Given the description of an element on the screen output the (x, y) to click on. 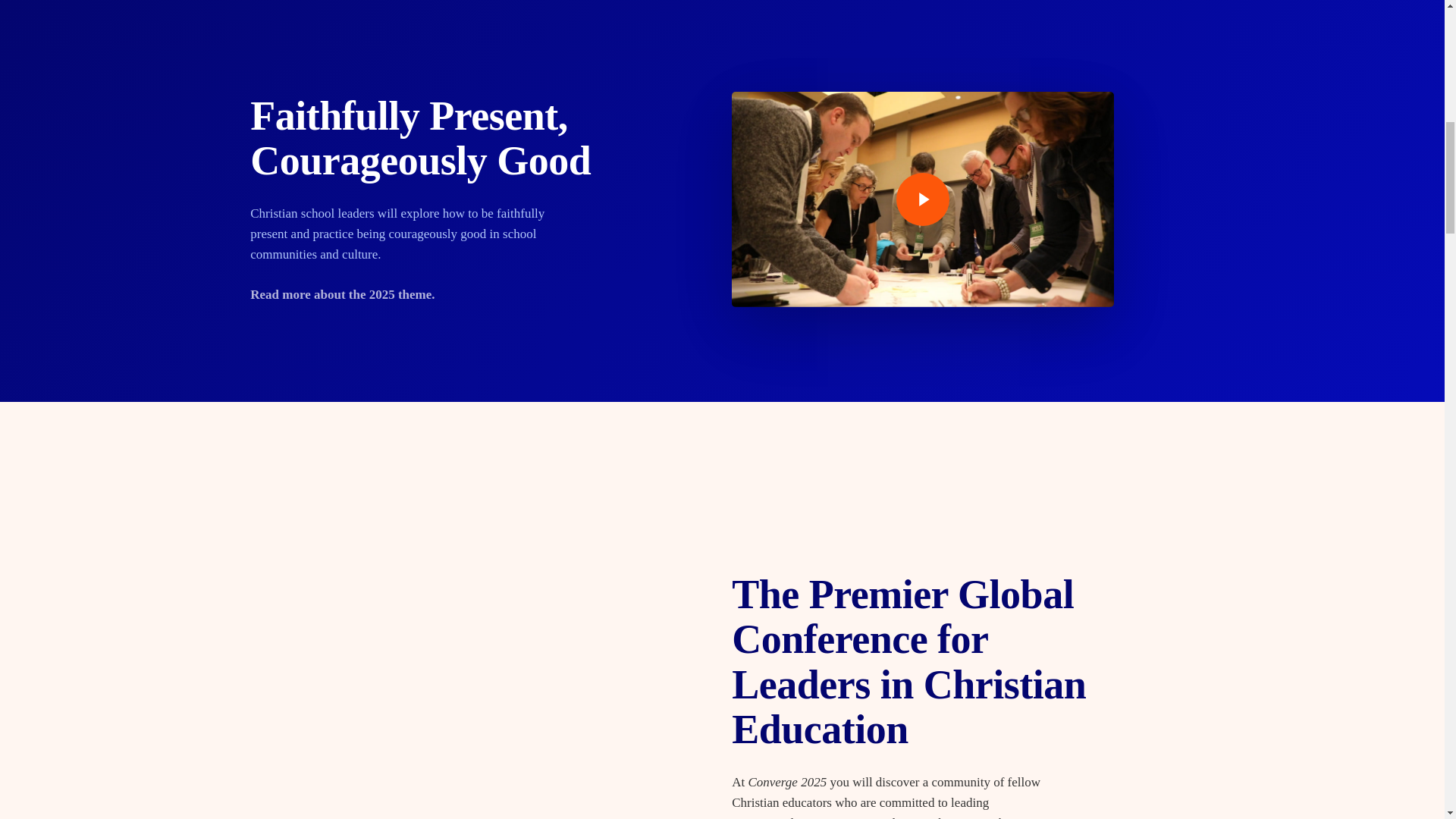
Play Video (922, 199)
Read more about the 2025 theme. (341, 294)
